Given the description of an element on the screen output the (x, y) to click on. 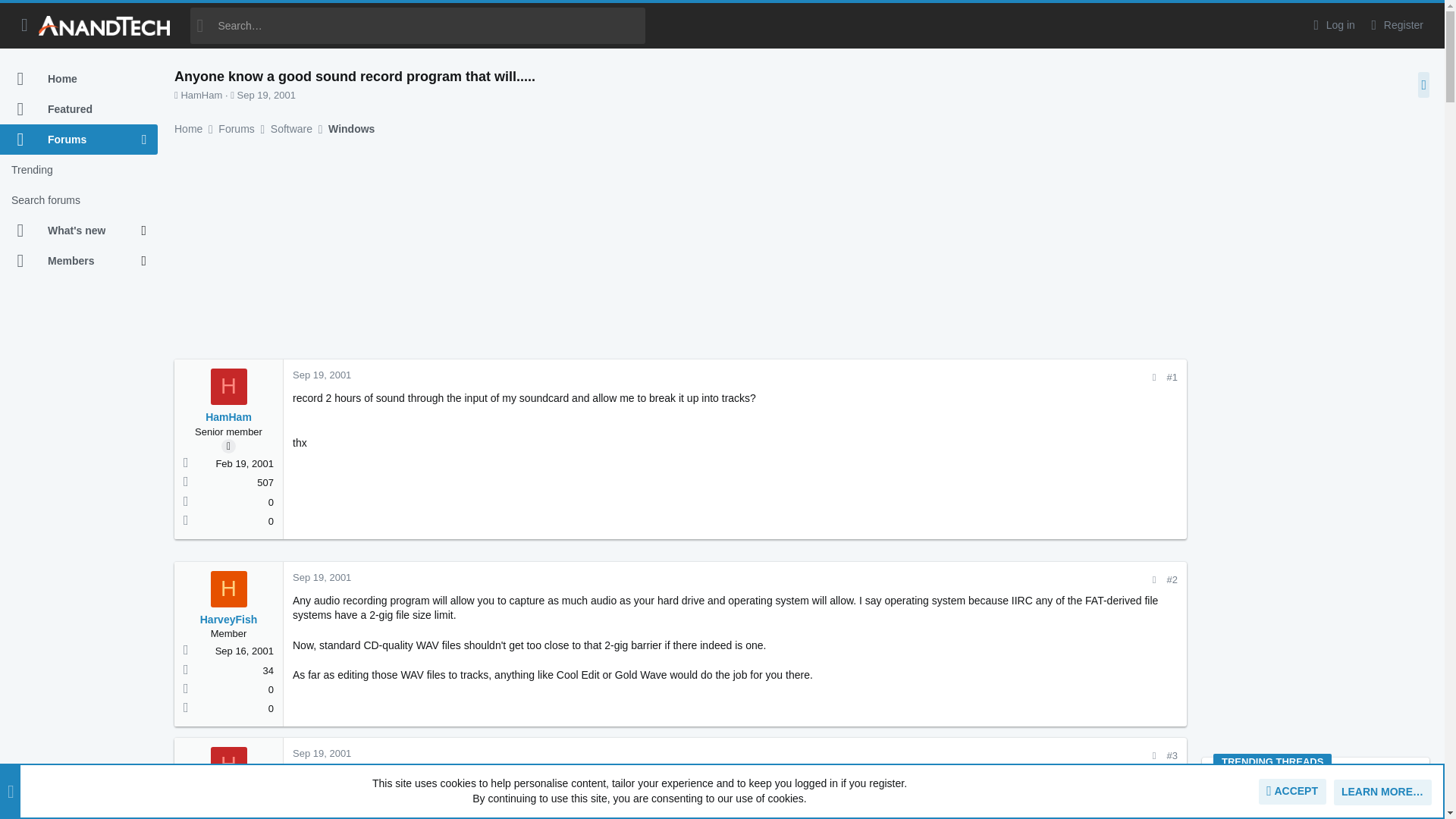
Search forums (78, 200)
Sep 19, 2001 at 6:27 PM (266, 94)
Sep 19, 2001 at 6:27 PM (321, 374)
Forums (70, 139)
Register (1395, 24)
Featured (78, 109)
Sep 19, 2001 at 7:24 PM (321, 753)
Home (78, 78)
What's new (70, 230)
Sep 19, 2001 at 6:50 PM (321, 577)
Trending (78, 169)
Log in (1332, 24)
